Given the description of an element on the screen output the (x, y) to click on. 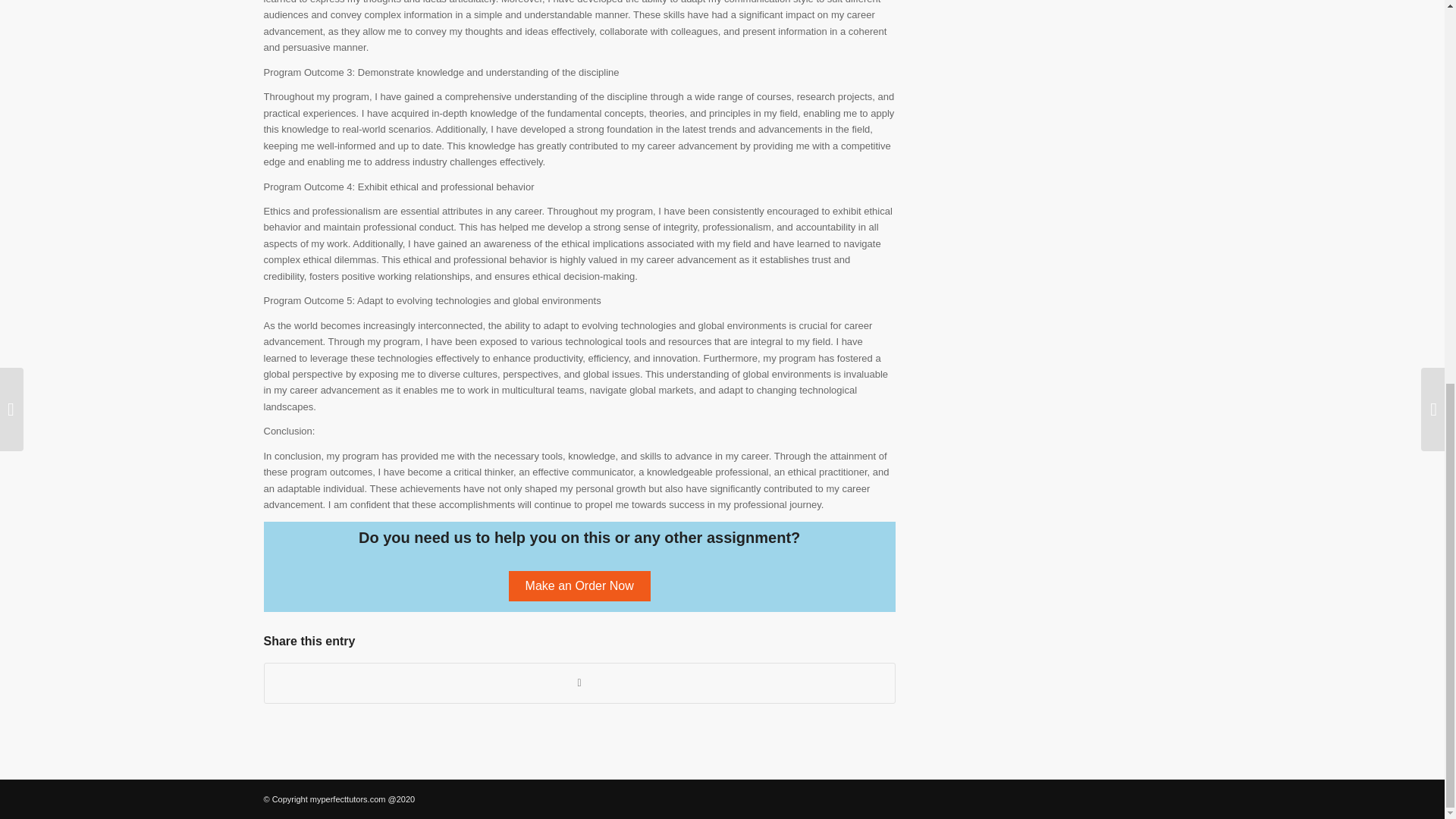
Make an Order Now (579, 585)
